Given the description of an element on the screen output the (x, y) to click on. 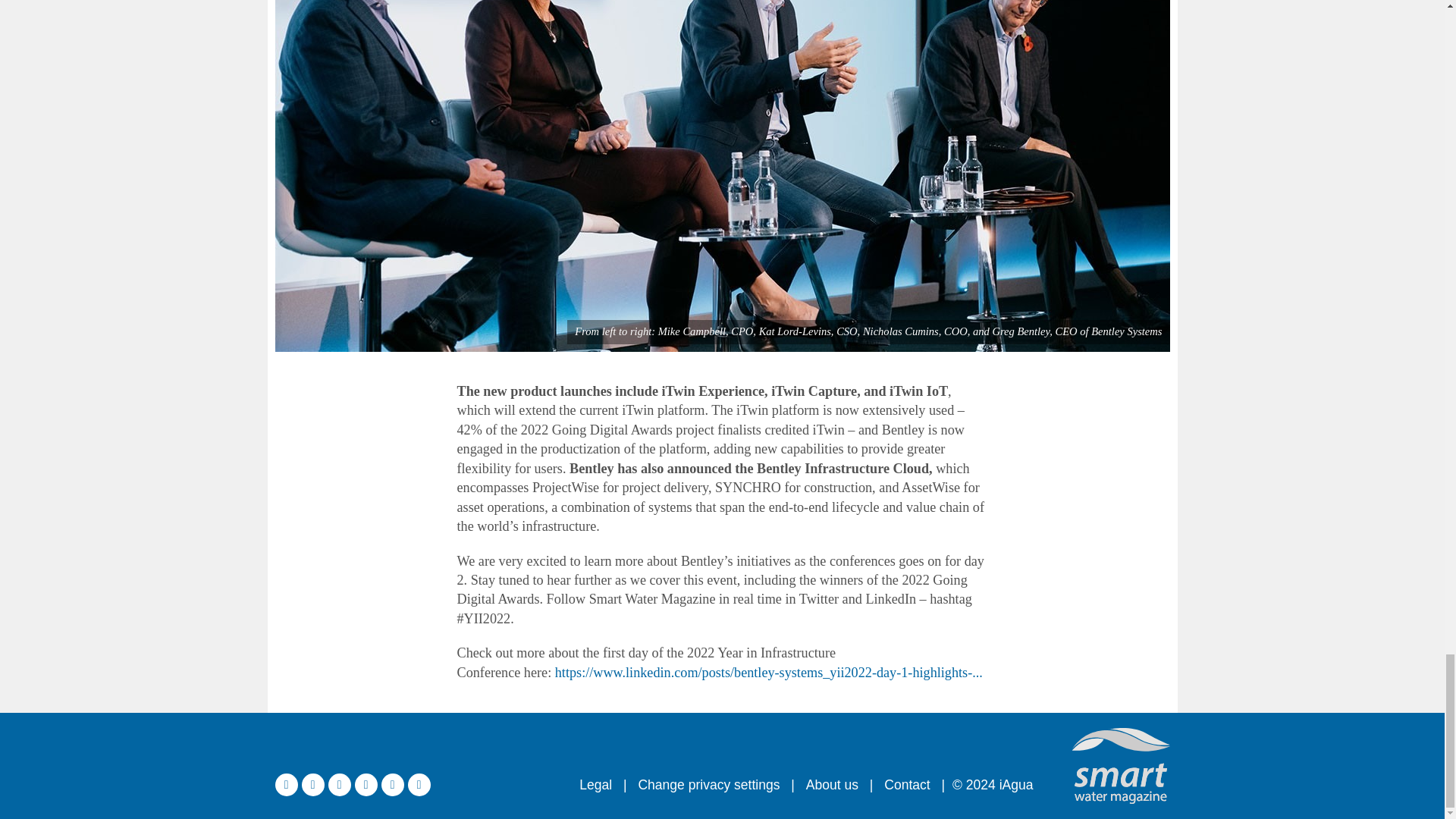
Follow us on Instagram (366, 784)
Follow us on Facebook (312, 784)
Follow us on Youtube (391, 784)
Subscribe to our newsletter (418, 784)
Follow us on Linkedin (338, 784)
Follow us on Twitter (286, 784)
